Given the description of an element on the screen output the (x, y) to click on. 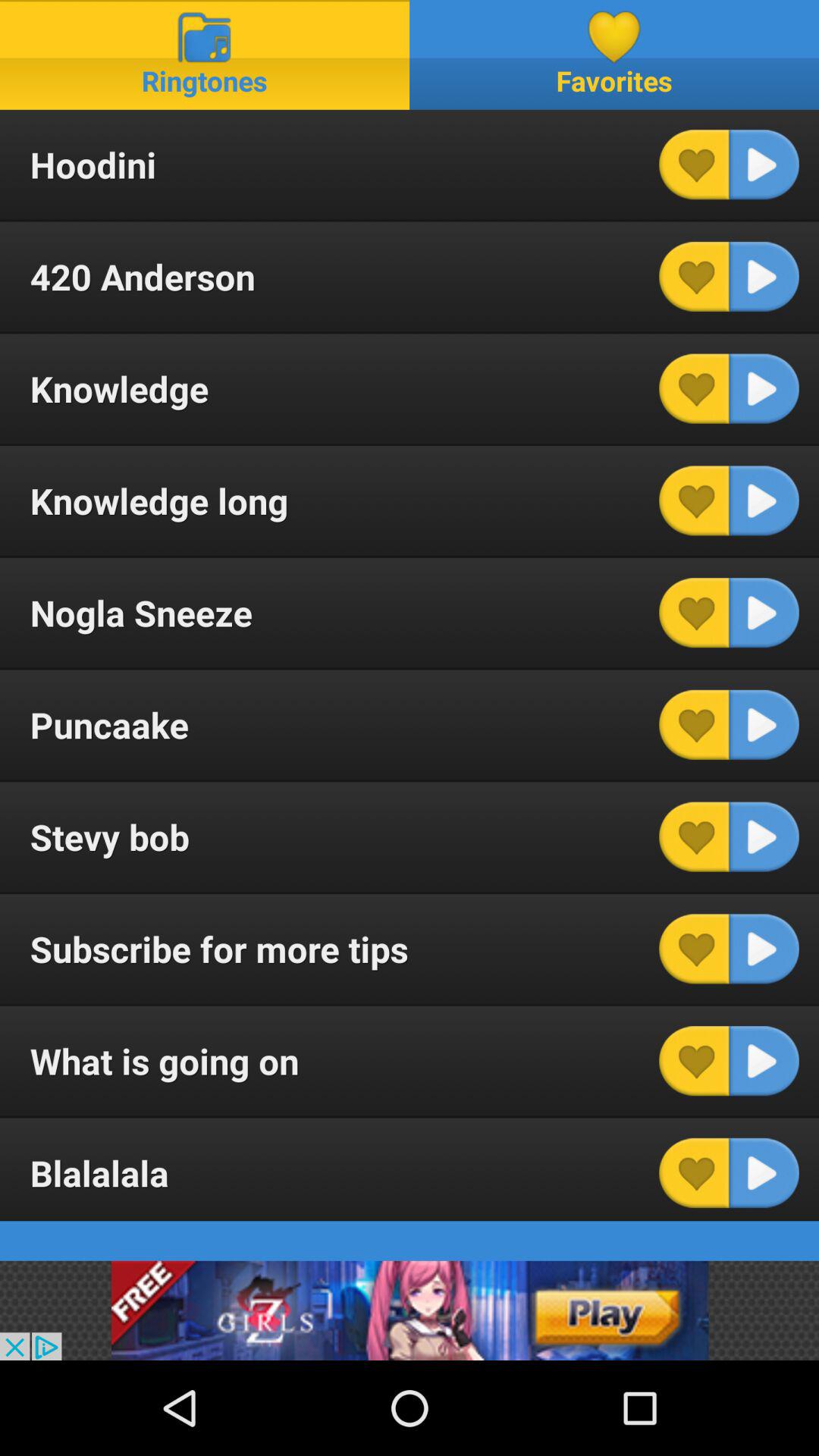
add the ringtone to your favorites (694, 612)
